Given the description of an element on the screen output the (x, y) to click on. 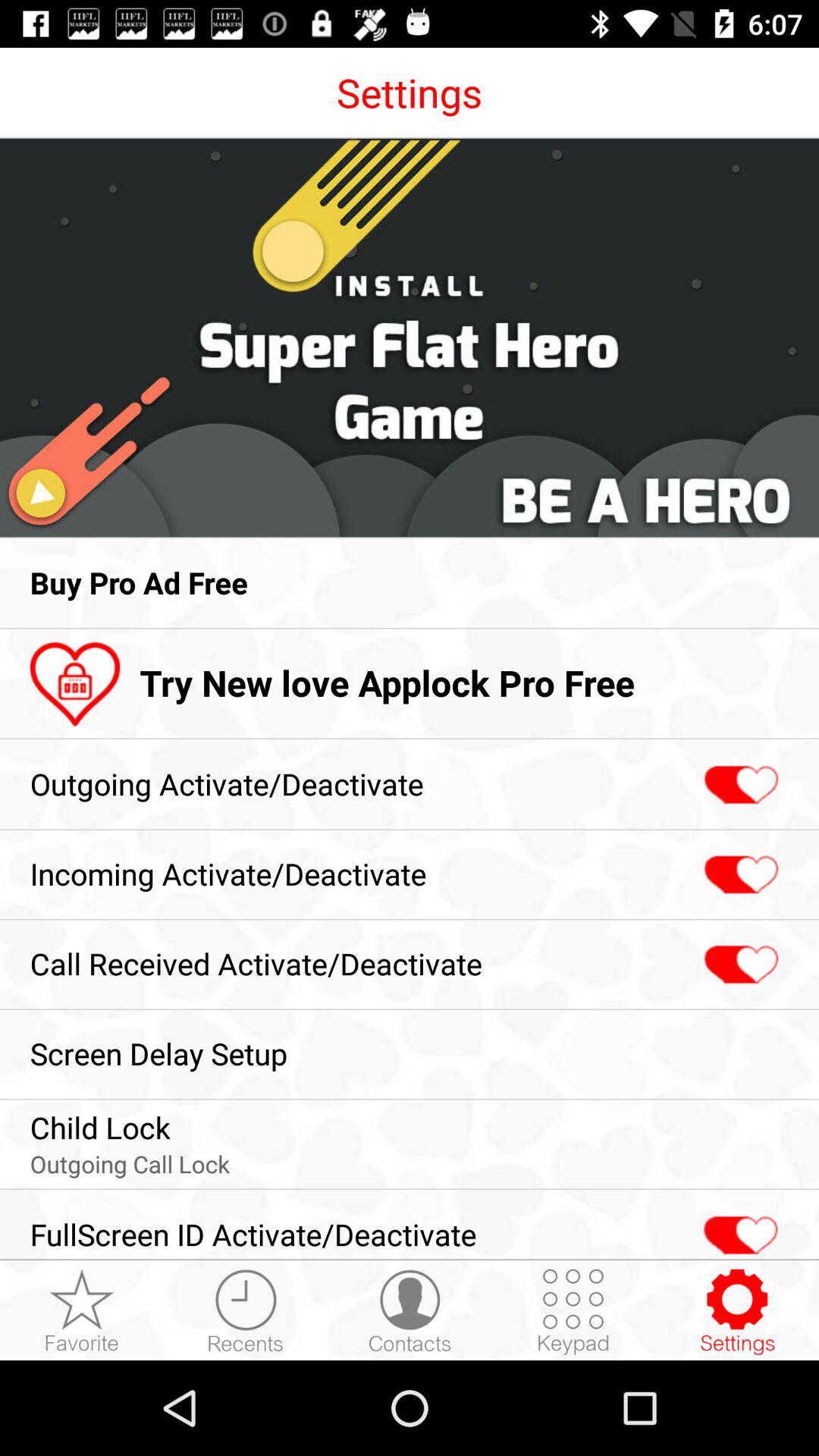
settings option (737, 1311)
